Given the description of an element on the screen output the (x, y) to click on. 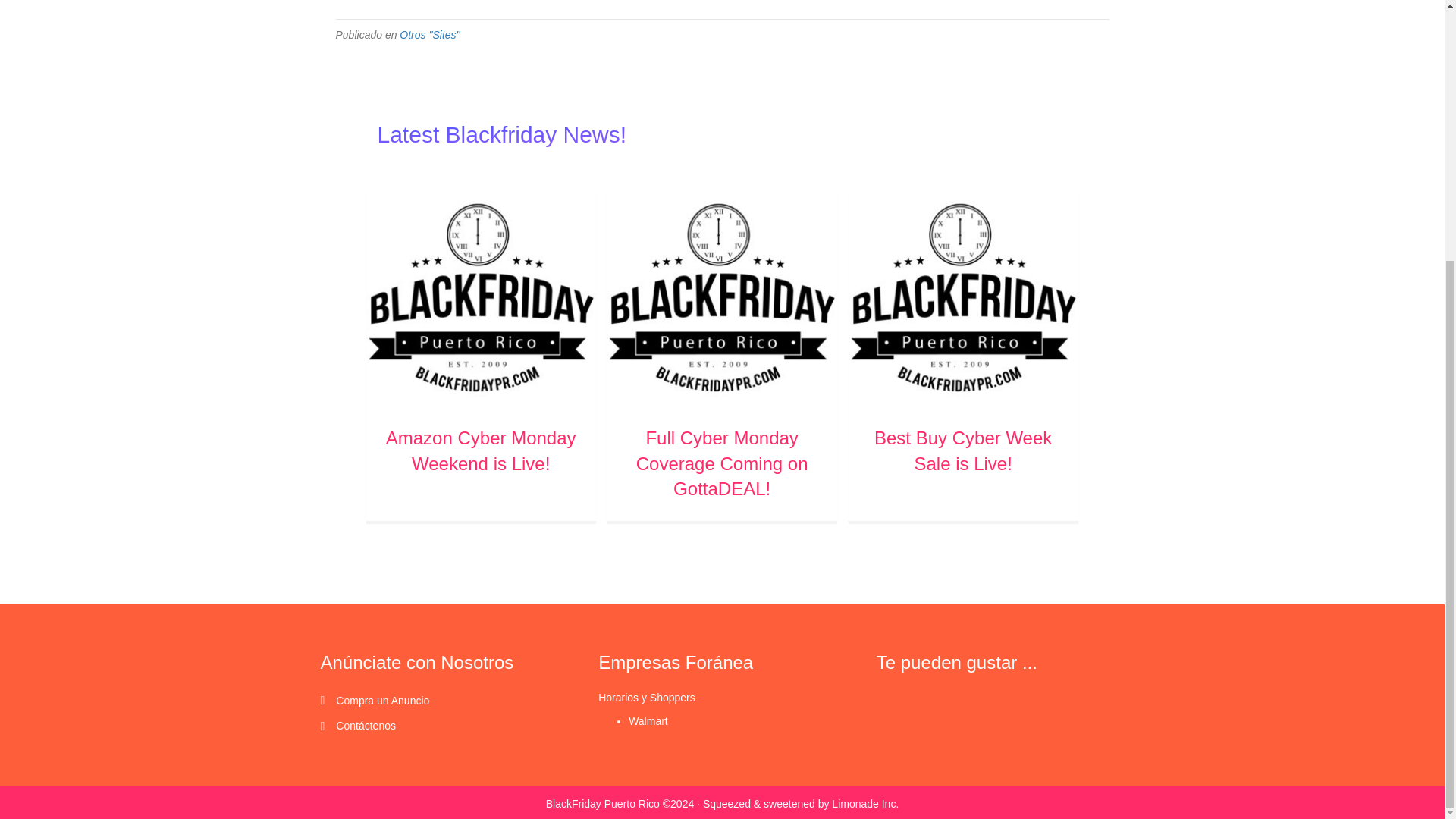
Full Cyber Monday Coverage Coming on GottaDEAL! (722, 462)
sweetened by Limonade Inc. (830, 803)
Walmart (648, 720)
Full Cyber Monday Coverage Coming on GottaDEAL! (721, 296)
Limonade Inc (830, 803)
Horarios y Shoppers (646, 697)
Amazon Cyber Monday Weekend is Live! (480, 450)
Otros "Sites" (429, 34)
Best Buy Cyber Week Sale is Live! (963, 450)
Best Buy Cyber Week Sale is Live! (963, 450)
